Given the description of an element on the screen output the (x, y) to click on. 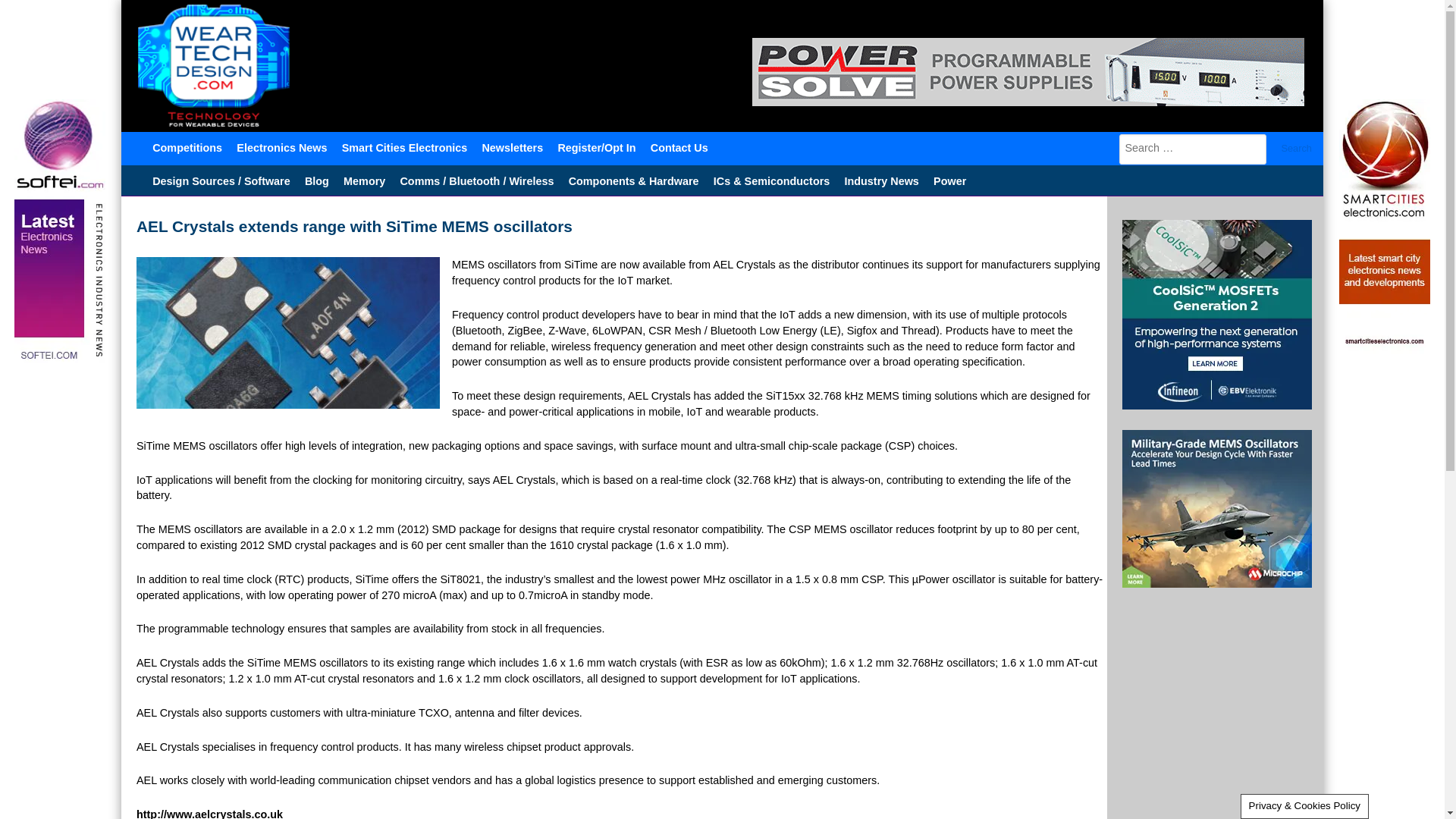
Search for: (1192, 149)
Power (949, 180)
Smart Cities Electronics (404, 146)
Memory (364, 180)
Search (1296, 148)
Blog (316, 180)
Search (1296, 148)
Competitions (187, 146)
Industry News (881, 180)
Contact Us (678, 146)
Electronics News (282, 146)
Search (1296, 148)
Newsletters (512, 146)
